Given the description of an element on the screen output the (x, y) to click on. 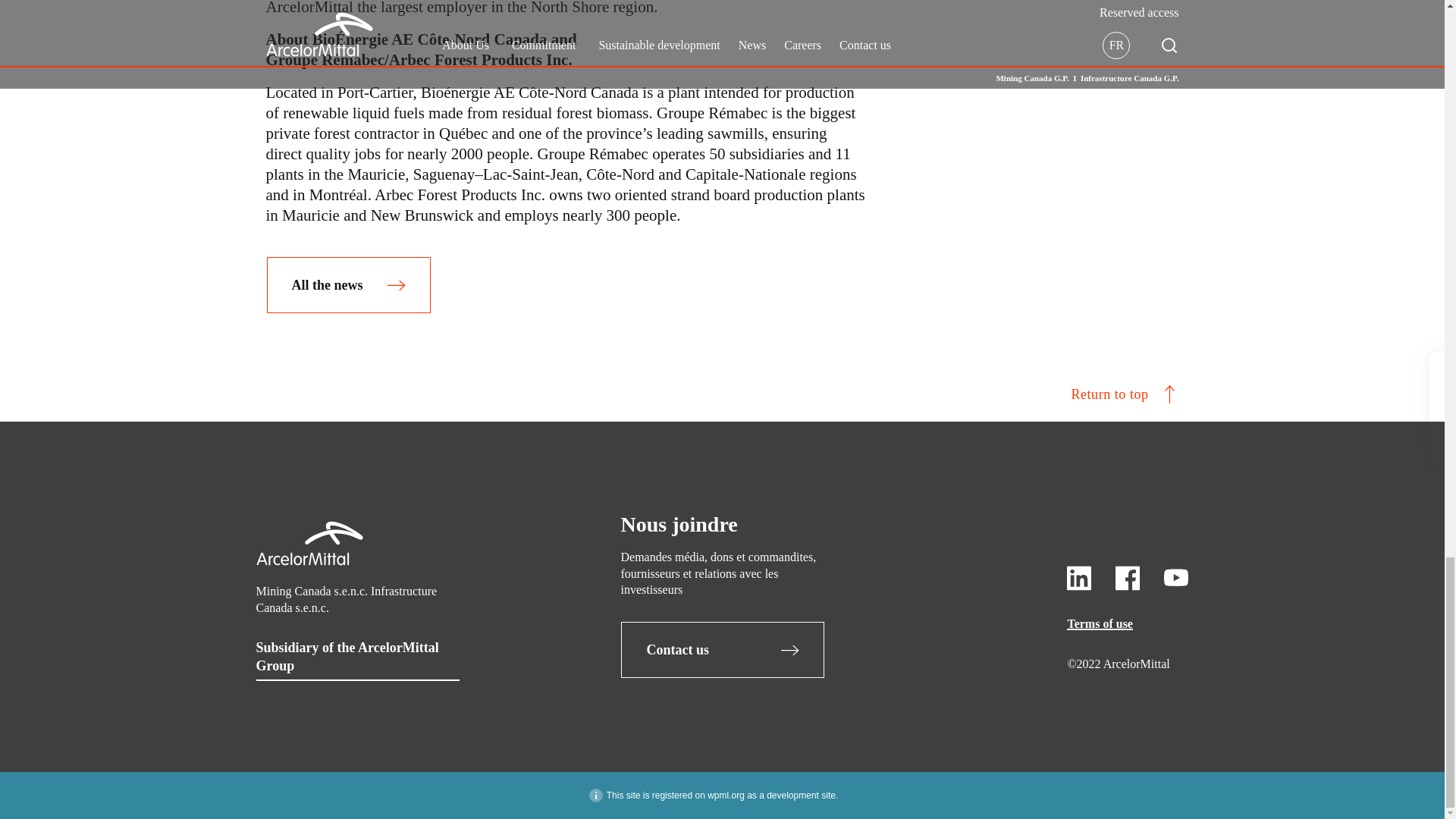
Return to top (720, 393)
Return to top (720, 393)
Return to top (1112, 393)
